Given the description of an element on the screen output the (x, y) to click on. 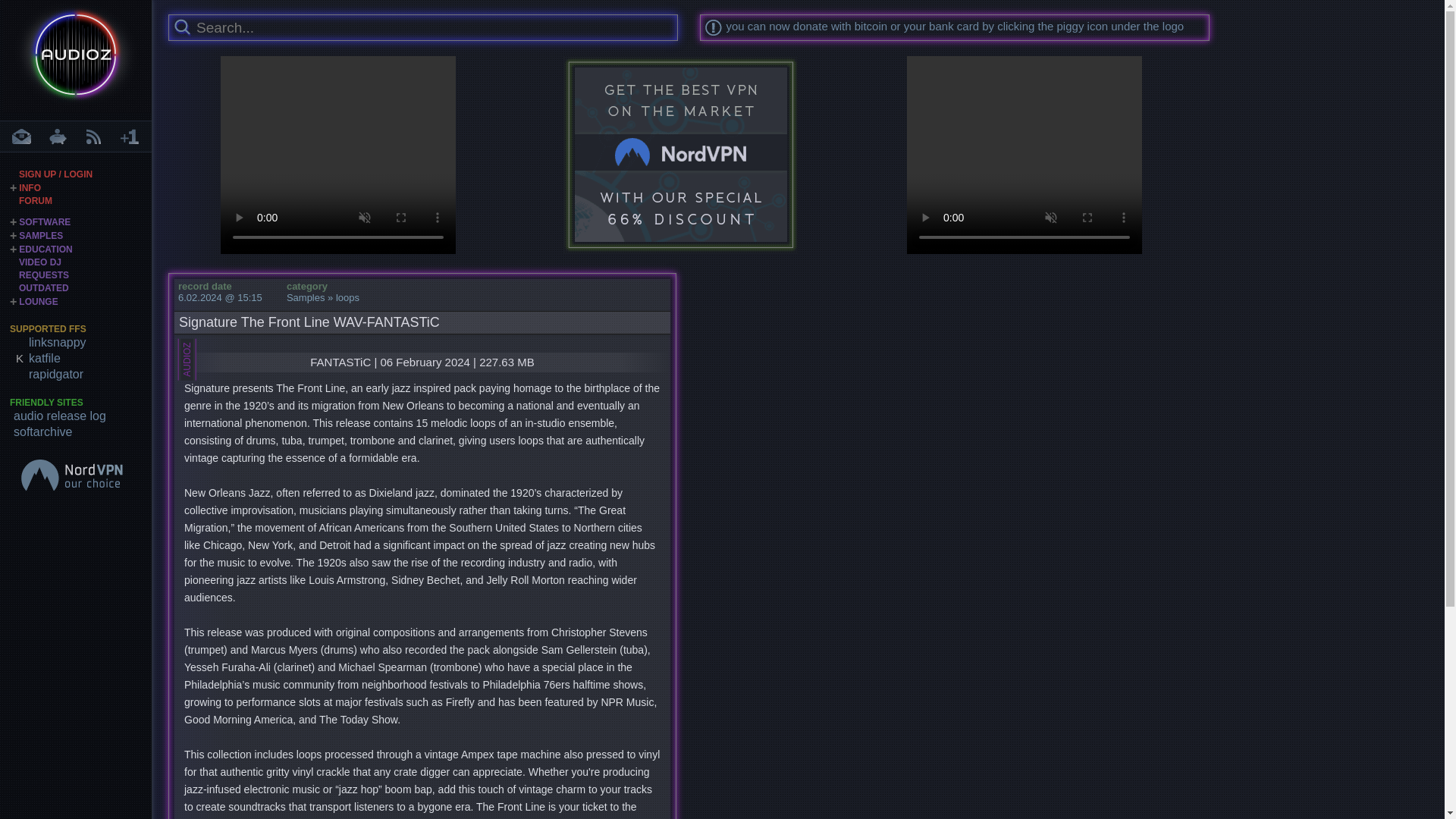
FORUM (35, 200)
Samples and Software Released Before 2008 (43, 287)
A U D i O F R E E D O M (75, 59)
Press if you ready to handle the consequences... (182, 27)
Get RG Premium! Everybody should have one. (82, 374)
Multimedia, VJ Software (39, 262)
United Pro Audio Web Groups Offical Release Log (82, 415)
Read my post about this insane offer (680, 154)
